Given the description of an element on the screen output the (x, y) to click on. 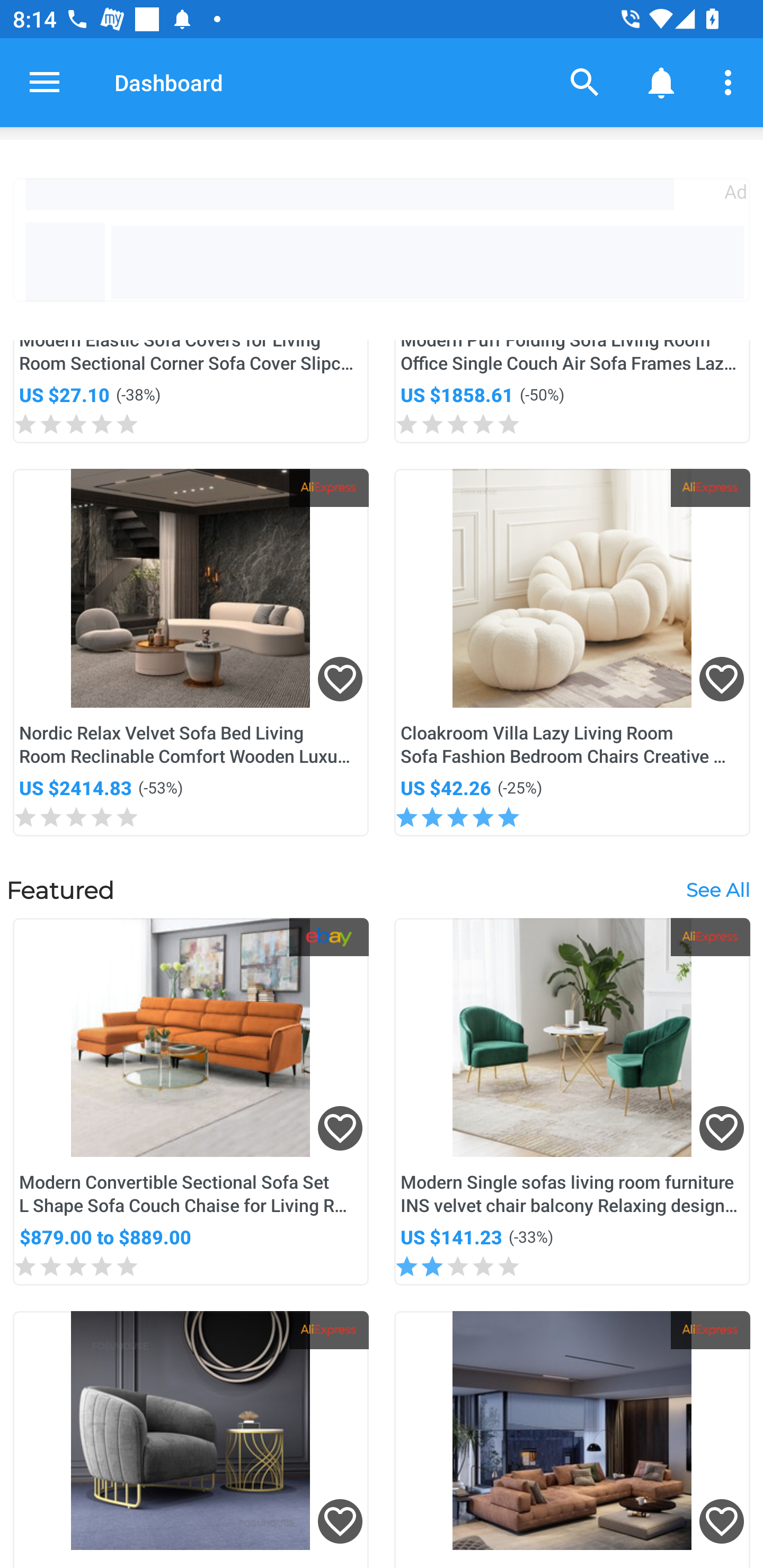
Open navigation drawer (44, 82)
Search (585, 81)
More options (731, 81)
See All (717, 888)
